Given the description of an element on the screen output the (x, y) to click on. 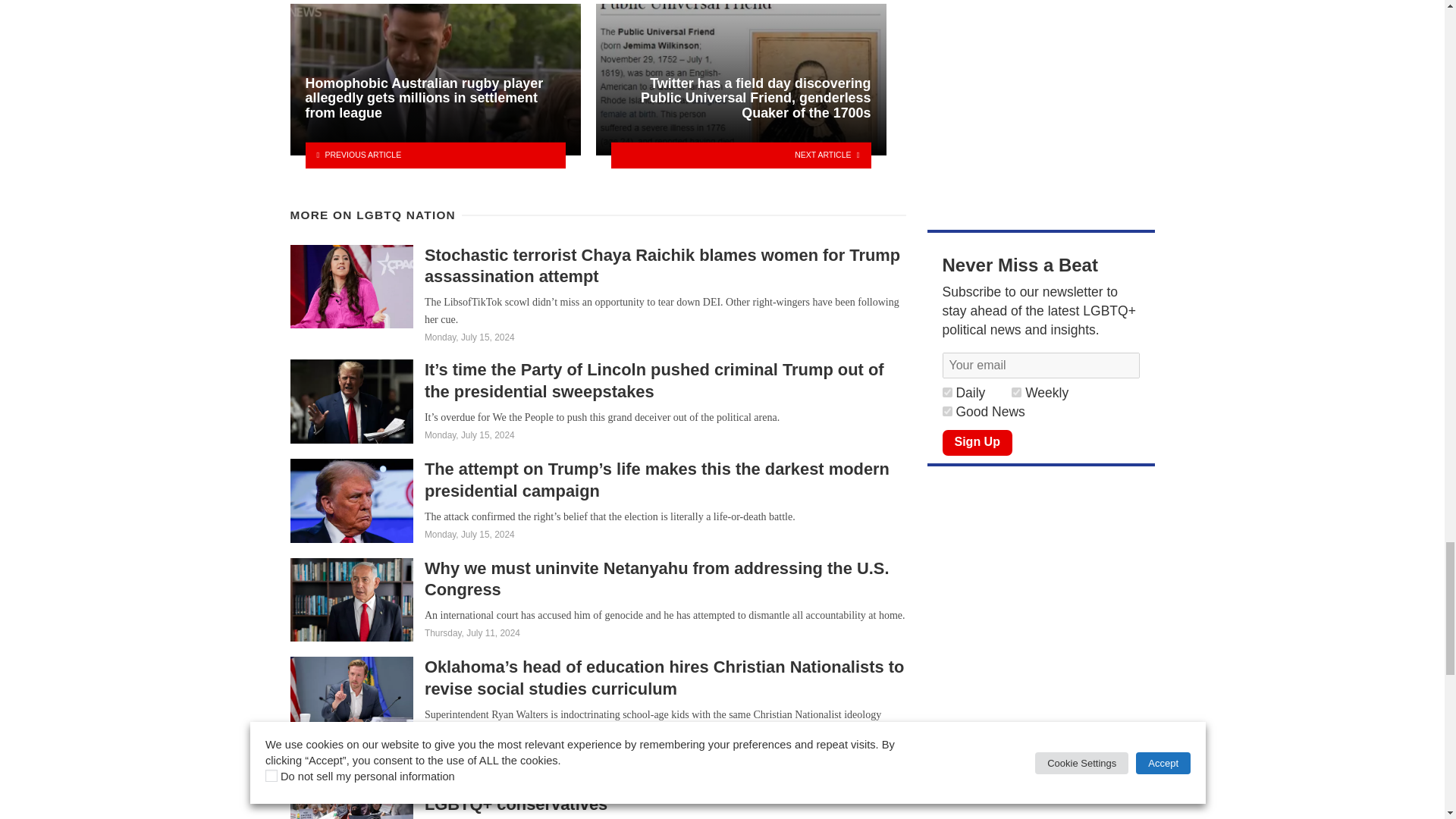
1920883 (947, 411)
Sign Up (976, 442)
1920885 (947, 392)
1920884 (1016, 392)
